Given the description of an element on the screen output the (x, y) to click on. 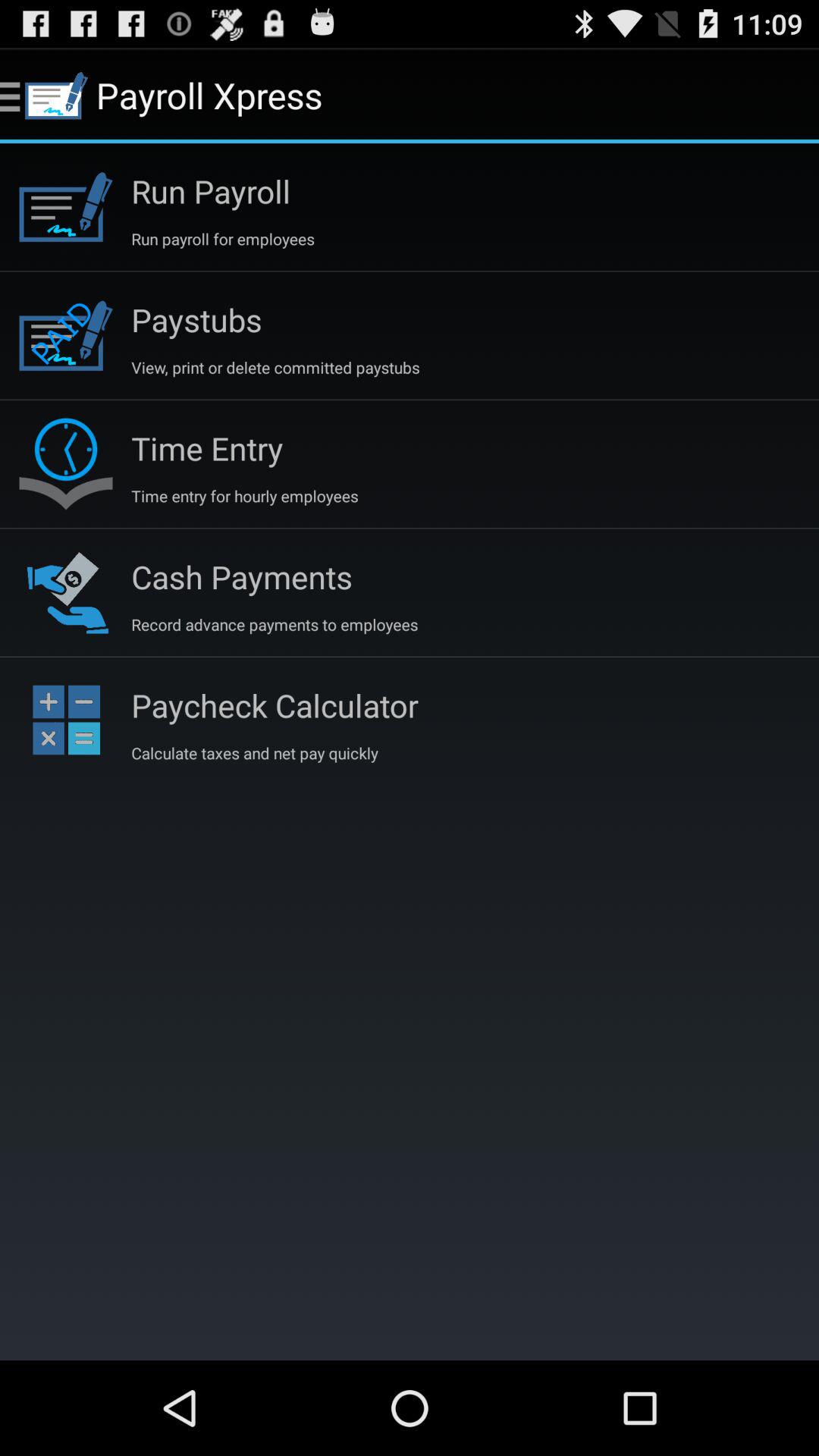
click app below paystubs (275, 367)
